Given the description of an element on the screen output the (x, y) to click on. 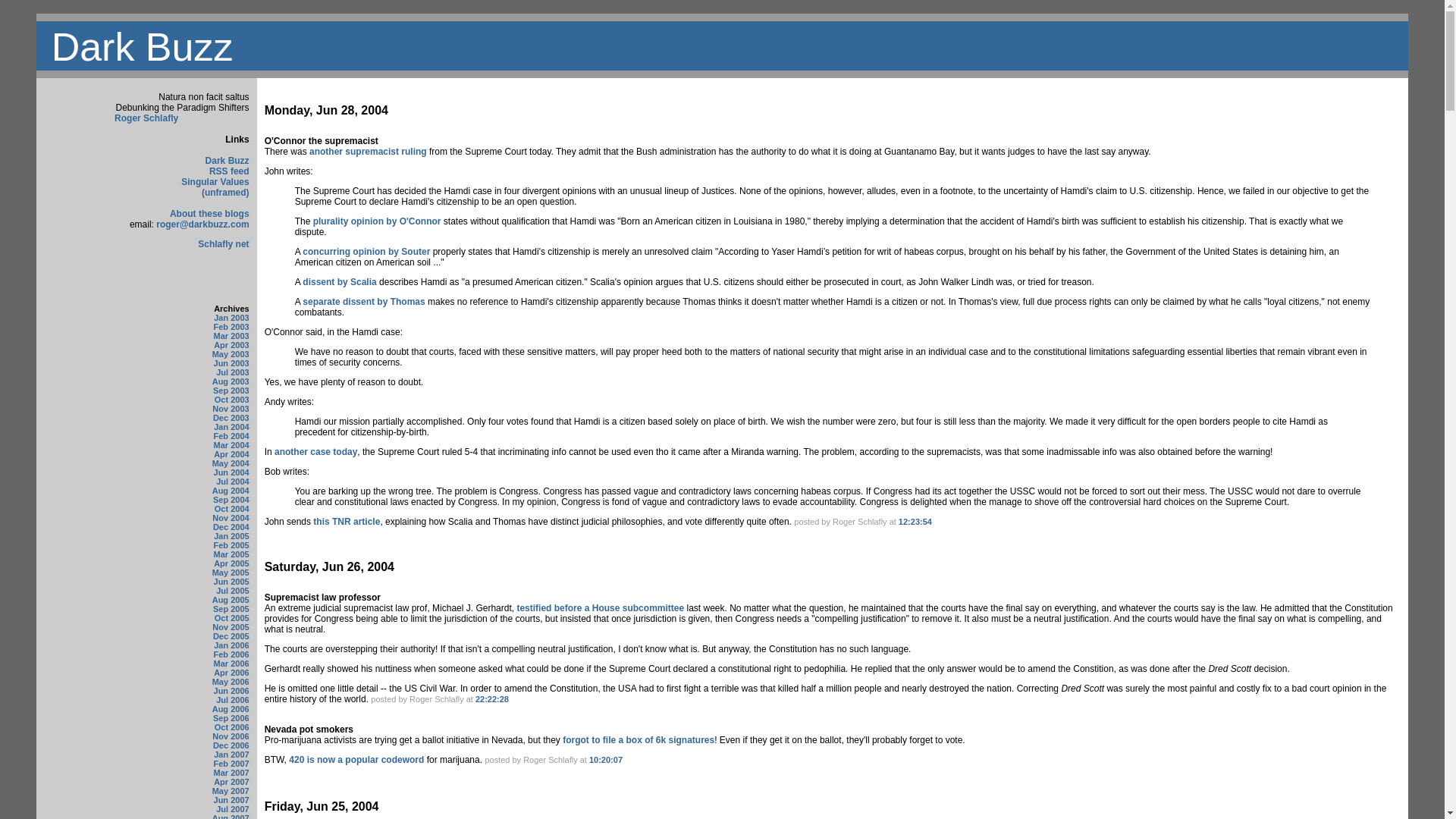
May 2004 (230, 462)
Dark Buzz (226, 160)
Jul 2005 (231, 590)
Jan 2004 (231, 426)
Mar 2003 (231, 335)
Mar 2005 (231, 553)
Nov 2003 (230, 408)
Feb 2003 (231, 326)
Nov 2004 (230, 517)
Singular Values (214, 181)
Jun 2005 (231, 581)
Dec 2003 (230, 417)
Feb 2004 (231, 435)
Sep 2004 (230, 499)
May 2003 (230, 353)
